Given the description of an element on the screen output the (x, y) to click on. 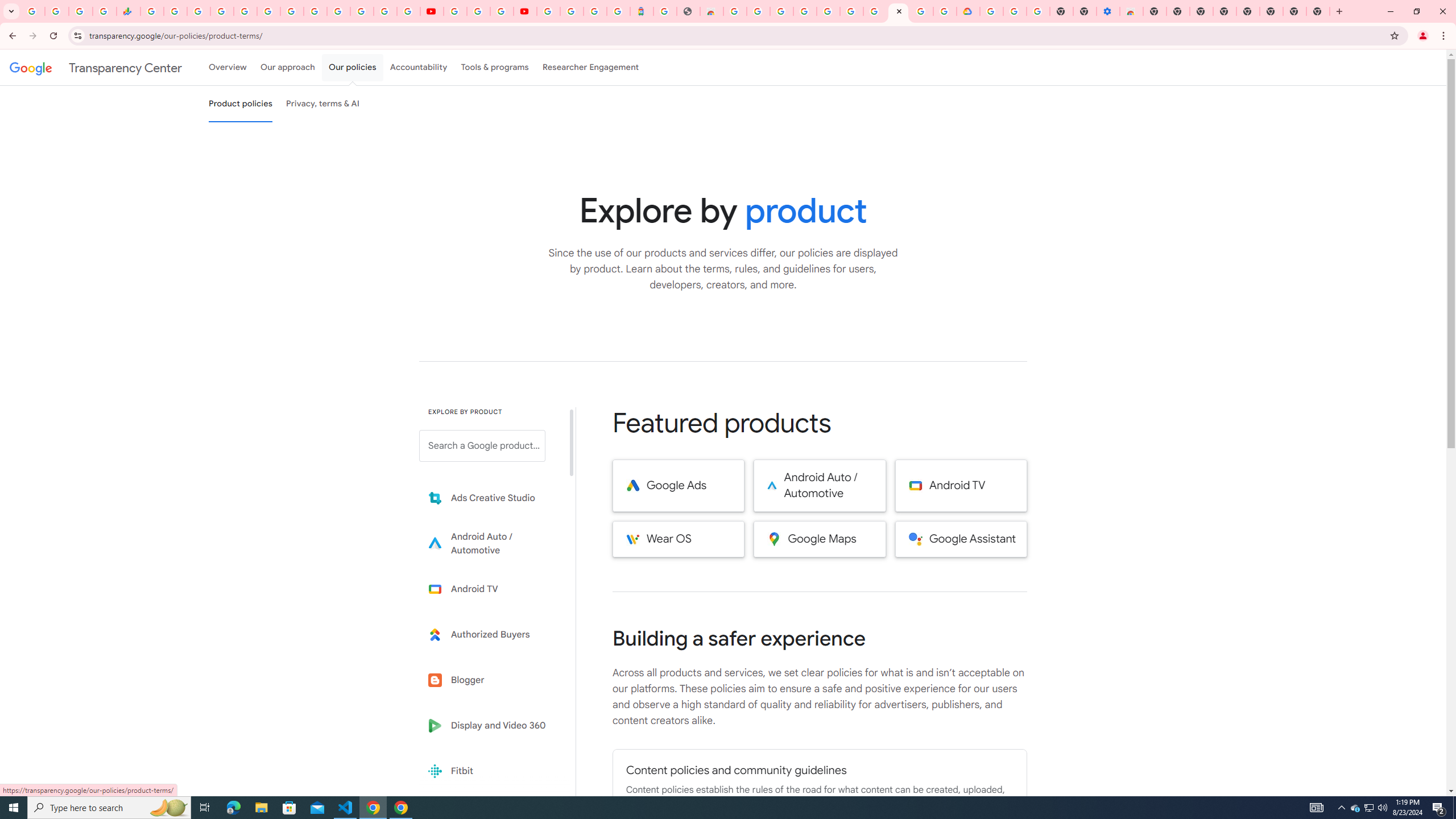
Search a Google product from below list. (481, 445)
Content Creator Programs & Opportunities - YouTube Creators (524, 11)
Transparency Center (95, 67)
Learn more about Authorized Buyers (490, 634)
Researcher Engagement (590, 67)
Wear OS (678, 538)
Turn cookies on or off - Computer - Google Account Help (1038, 11)
Google Account Help (478, 11)
Tools & programs (494, 67)
Browse the Google Chrome Community - Google Chrome Community (945, 11)
